Given the description of an element on the screen output the (x, y) to click on. 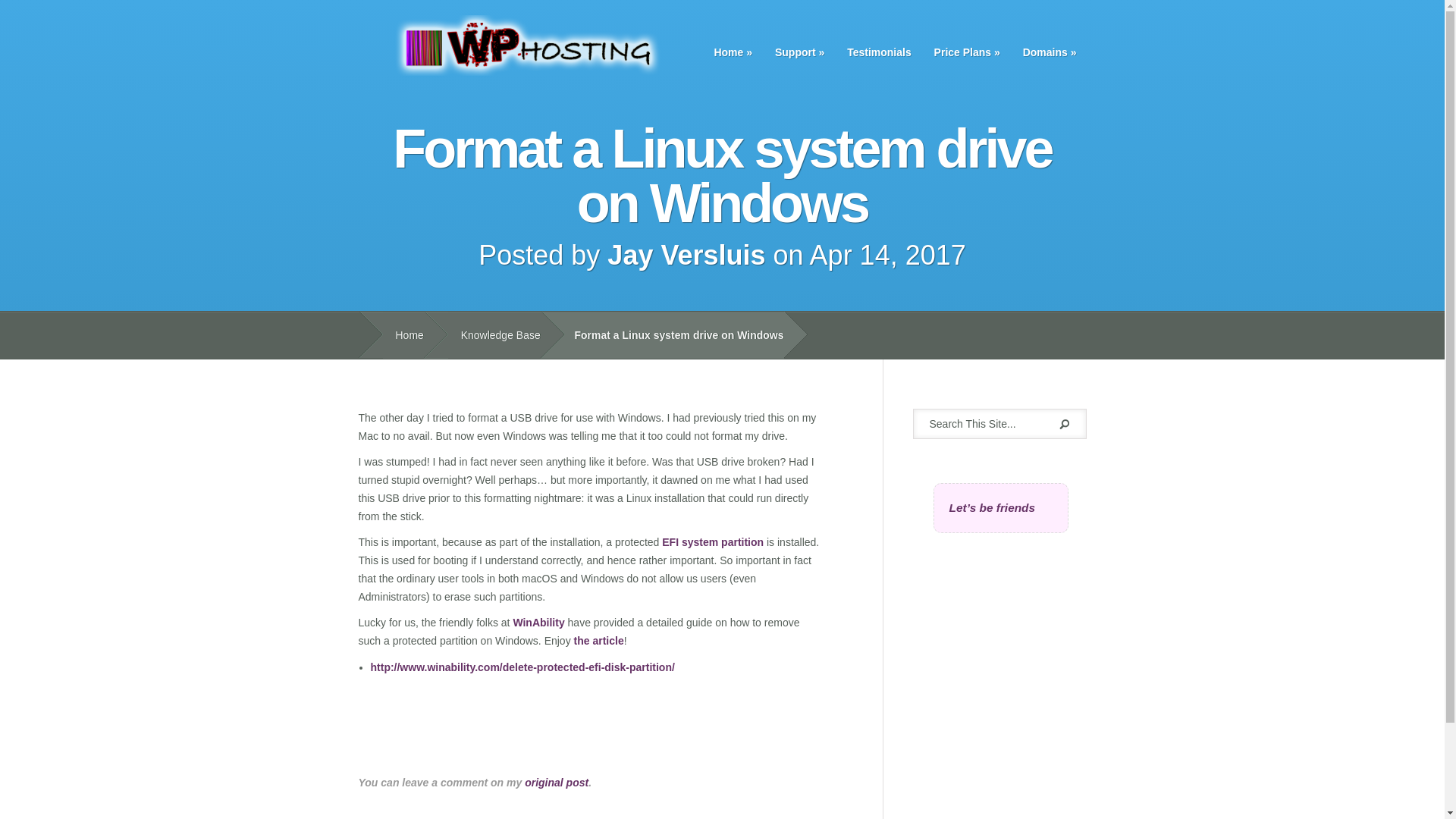
Search This Site... (983, 423)
Advertisement (535, 738)
Support (799, 52)
Home (732, 52)
Price Plans (967, 52)
Posts by Jay Versluis (686, 255)
Testimonials (879, 52)
